Given the description of an element on the screen output the (x, y) to click on. 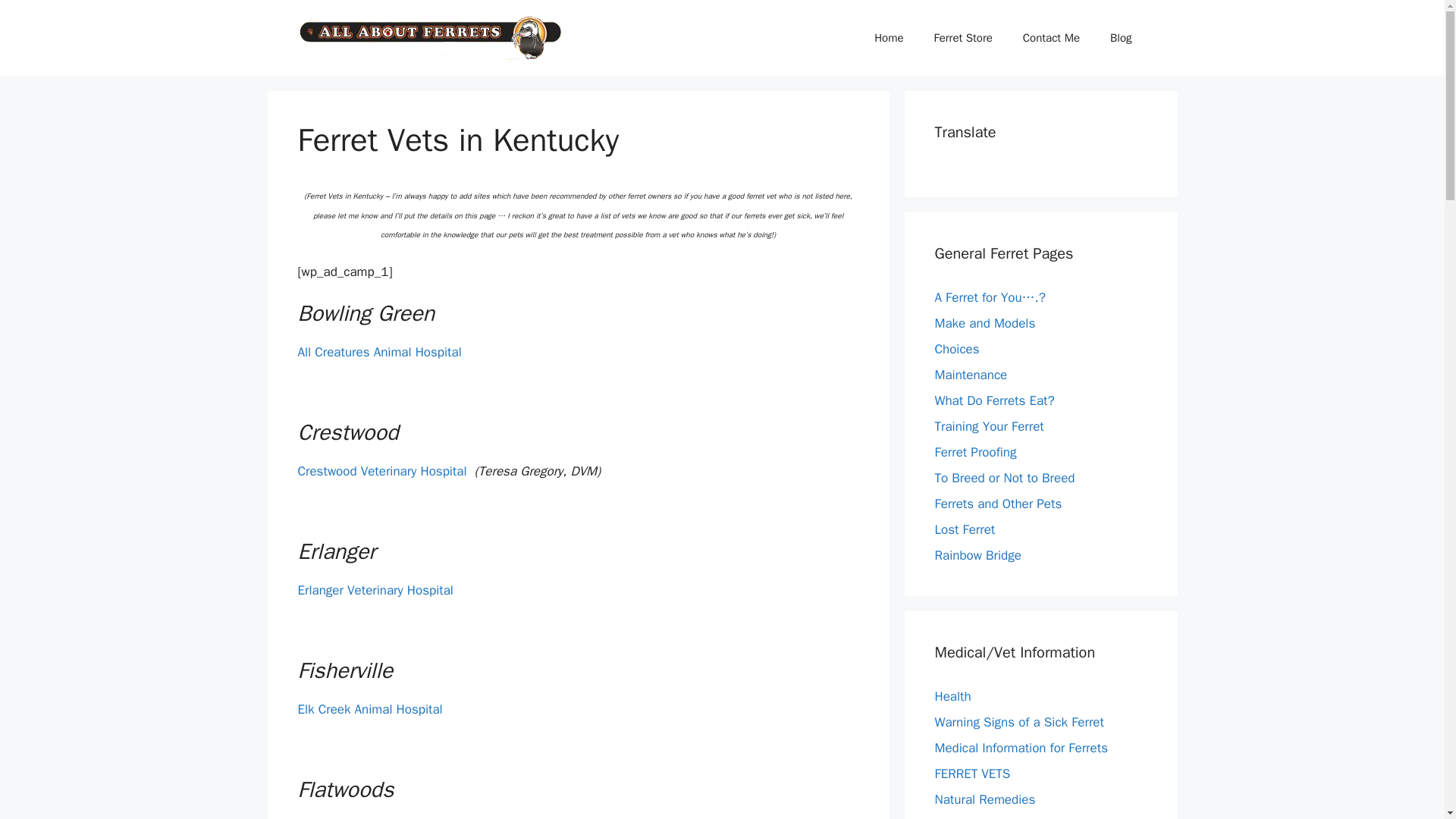
Crestwood Veterinary Hospital (381, 471)
Make and Models (984, 323)
What Do Ferrets Eat? (994, 400)
Erlanger Veterinary Hospital (374, 590)
Elk Creek Animal Hospital (369, 709)
Ferret Proofing (975, 452)
Ferret Store (962, 37)
Maintenance (970, 374)
Training Your Ferret (988, 426)
Blog (1120, 37)
